Given the description of an element on the screen output the (x, y) to click on. 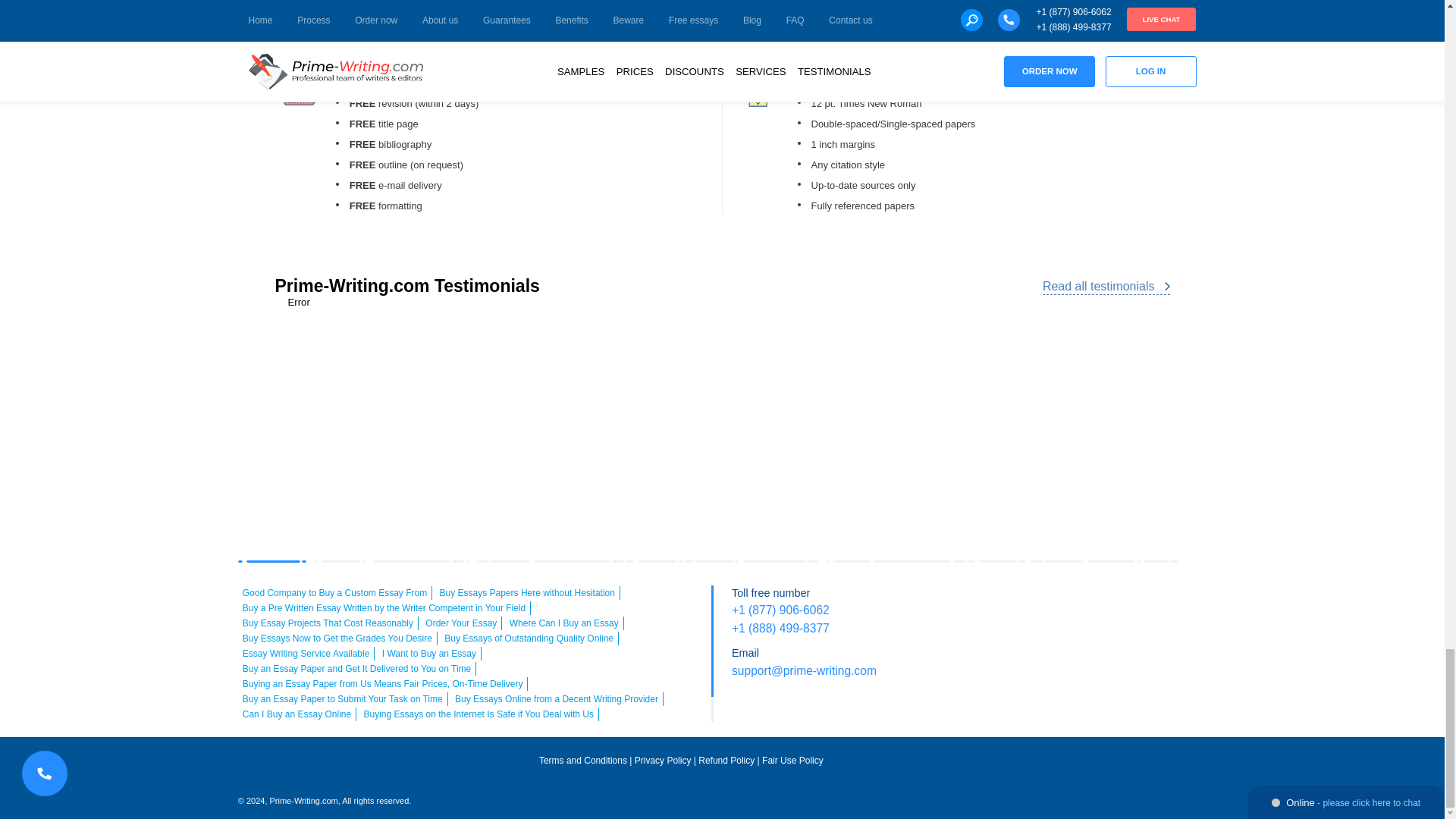
Credit and debit cards by Visa (1005, 602)
prime-writing.com (680, 795)
Credit cards by American Express (1091, 602)
prime-writing.com (342, 766)
Apple pay (1133, 602)
Credit and debit cards by MasterCard (1048, 602)
Credit cards by JCB (1112, 632)
prime-writing.com (1050, 765)
Credit cards by Discover (1176, 602)
Credit cards by Diners Club (1069, 632)
